Given the description of an element on the screen output the (x, y) to click on. 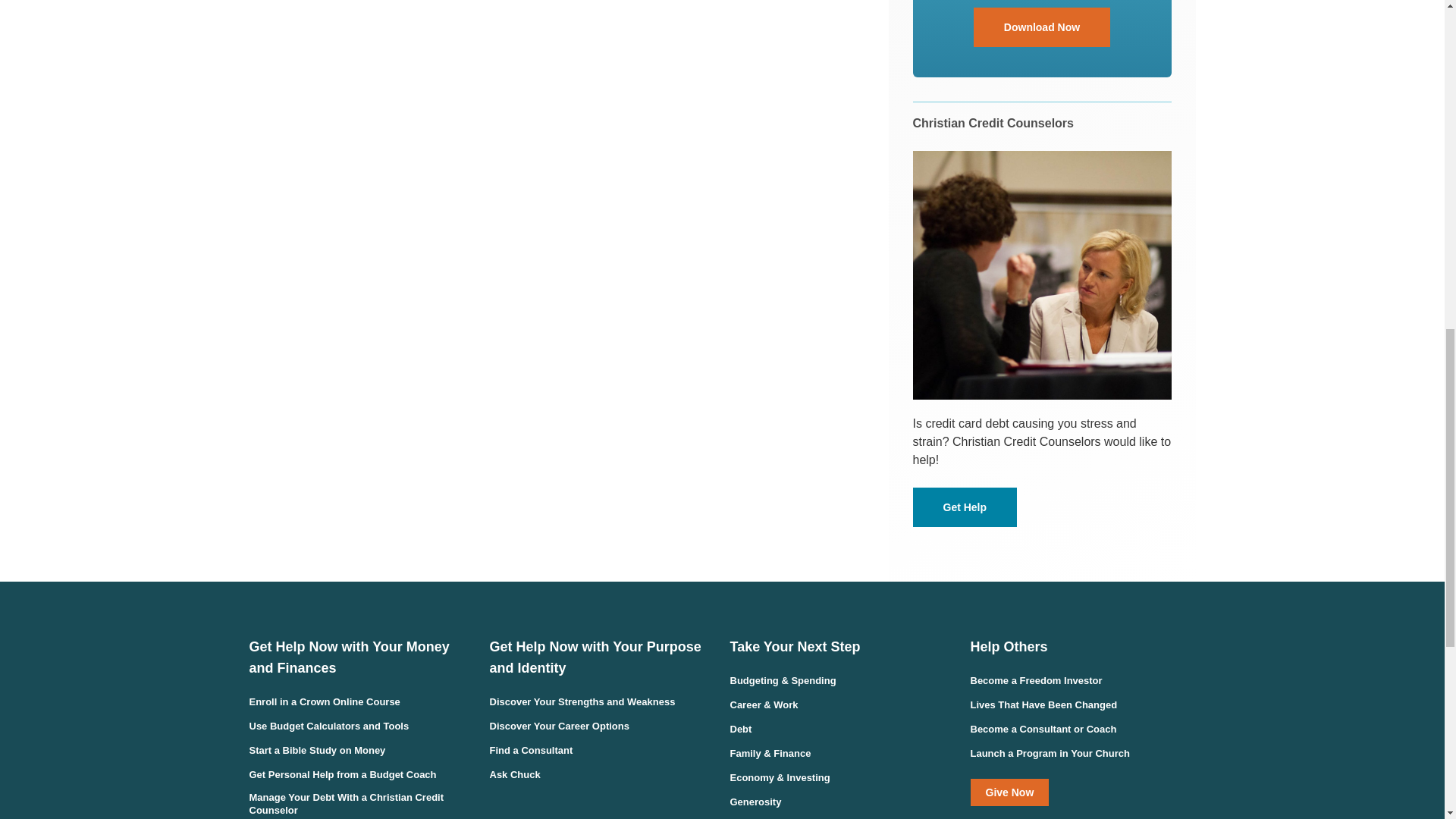
Neile At Crownbusinesssummitt 22 1 E1672242745290 1024x987 (1042, 275)
